Given the description of an element on the screen output the (x, y) to click on. 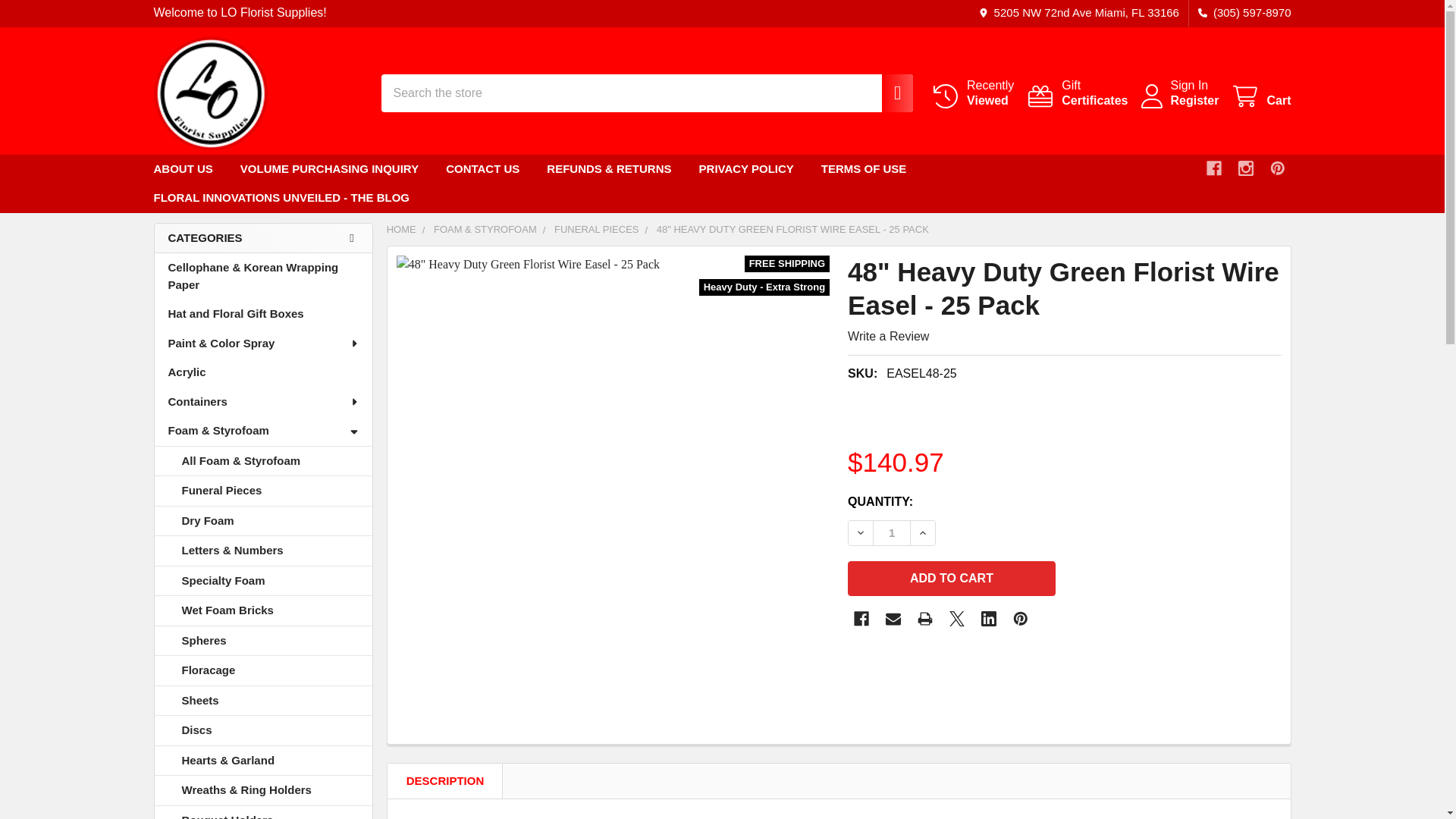
Email (893, 618)
Recently Viewed (972, 92)
Search (889, 93)
LO Florist Supplies (1076, 92)
Pinterest (209, 92)
Pinterest (1020, 618)
Cart (1276, 167)
Facebook (1260, 96)
48" Heavy Duty Green Florist Wire Easel - 25 Pack (861, 618)
